Given the description of an element on the screen output the (x, y) to click on. 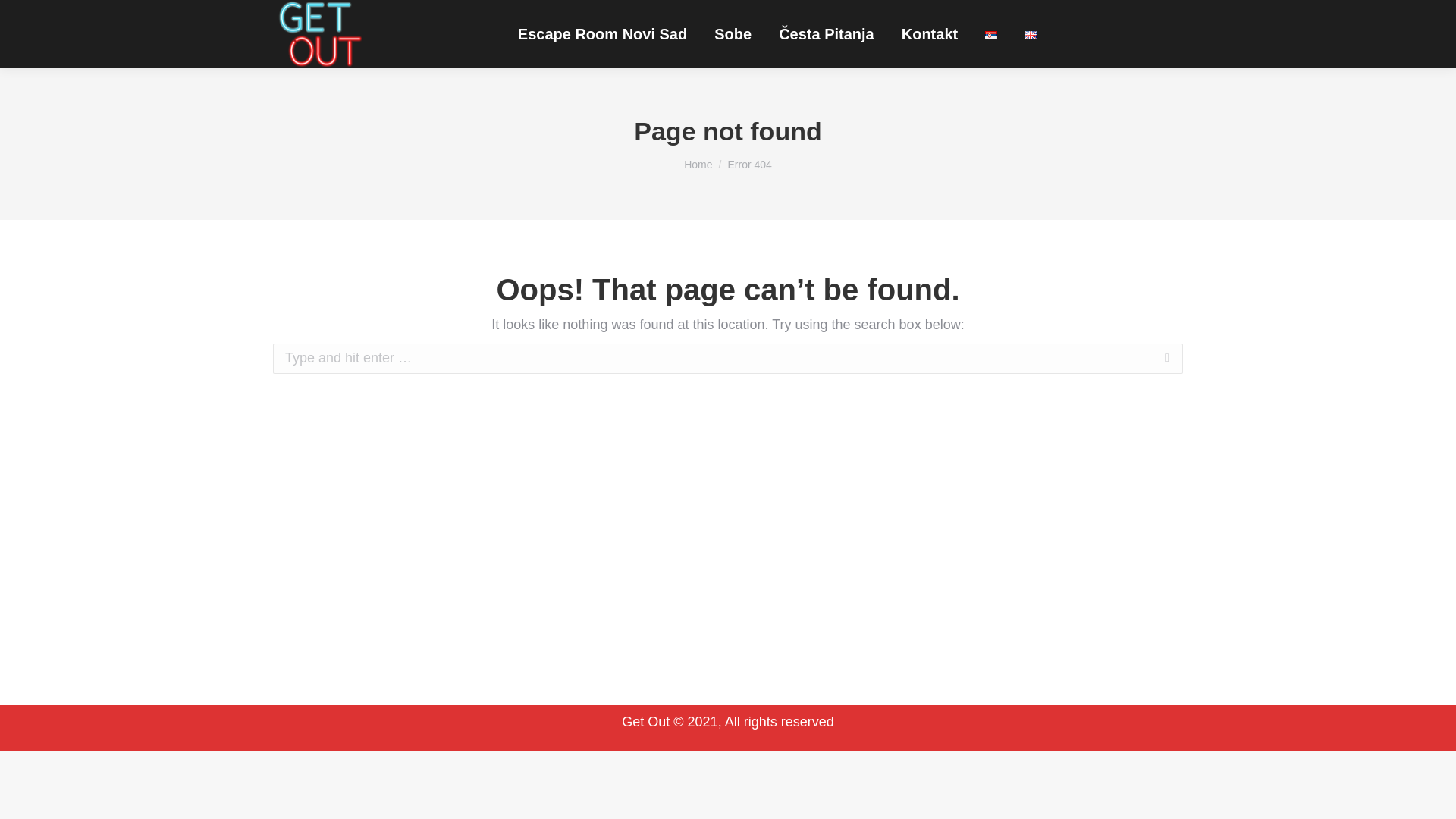
Home (697, 164)
Sobe (732, 33)
Go! (1206, 359)
Go! (1206, 359)
Kontakt (929, 33)
Escape Room Novi Sad (602, 33)
Go! (1206, 359)
